Given the description of an element on the screen output the (x, y) to click on. 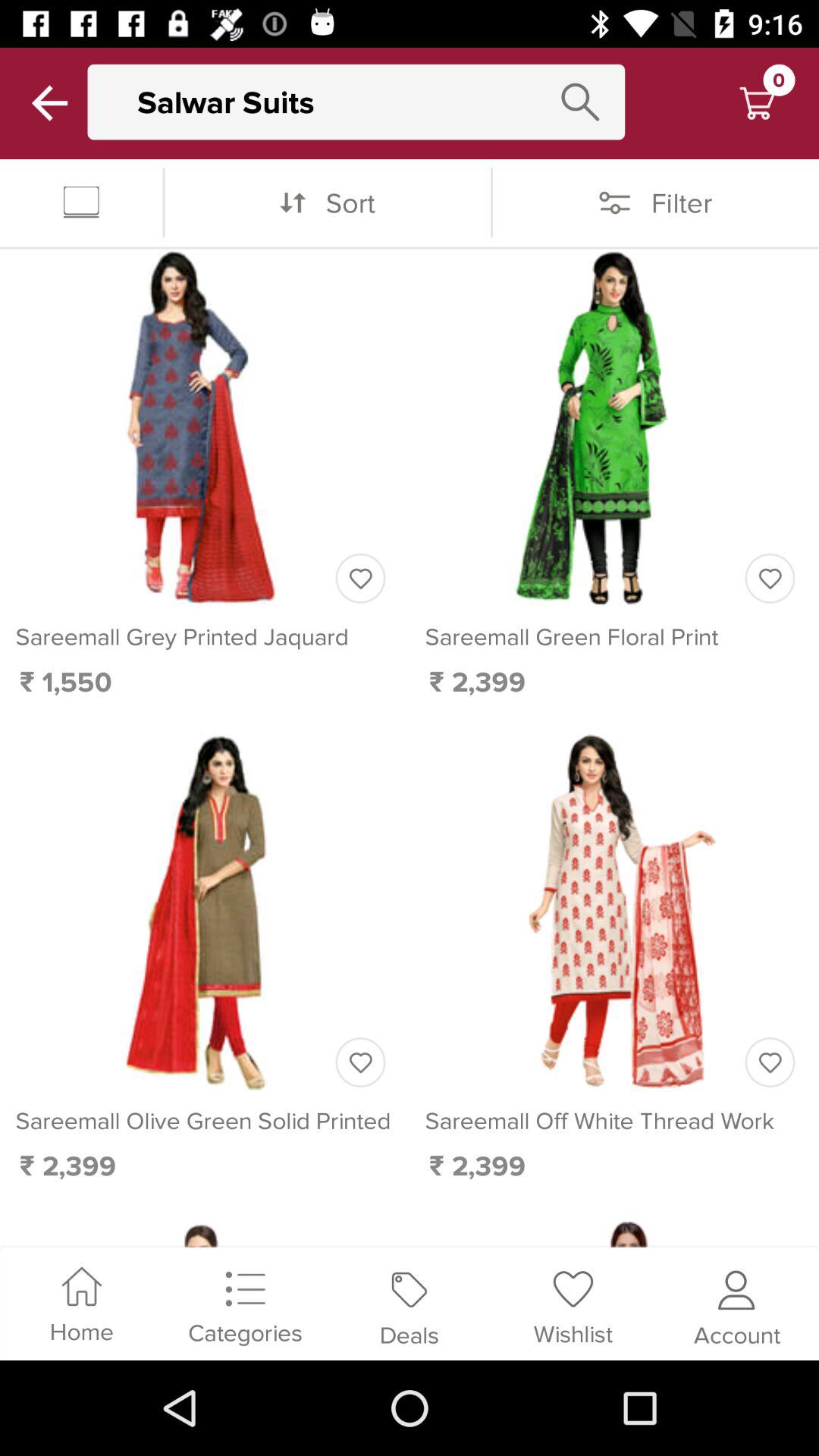
search (580, 101)
